Given the description of an element on the screen output the (x, y) to click on. 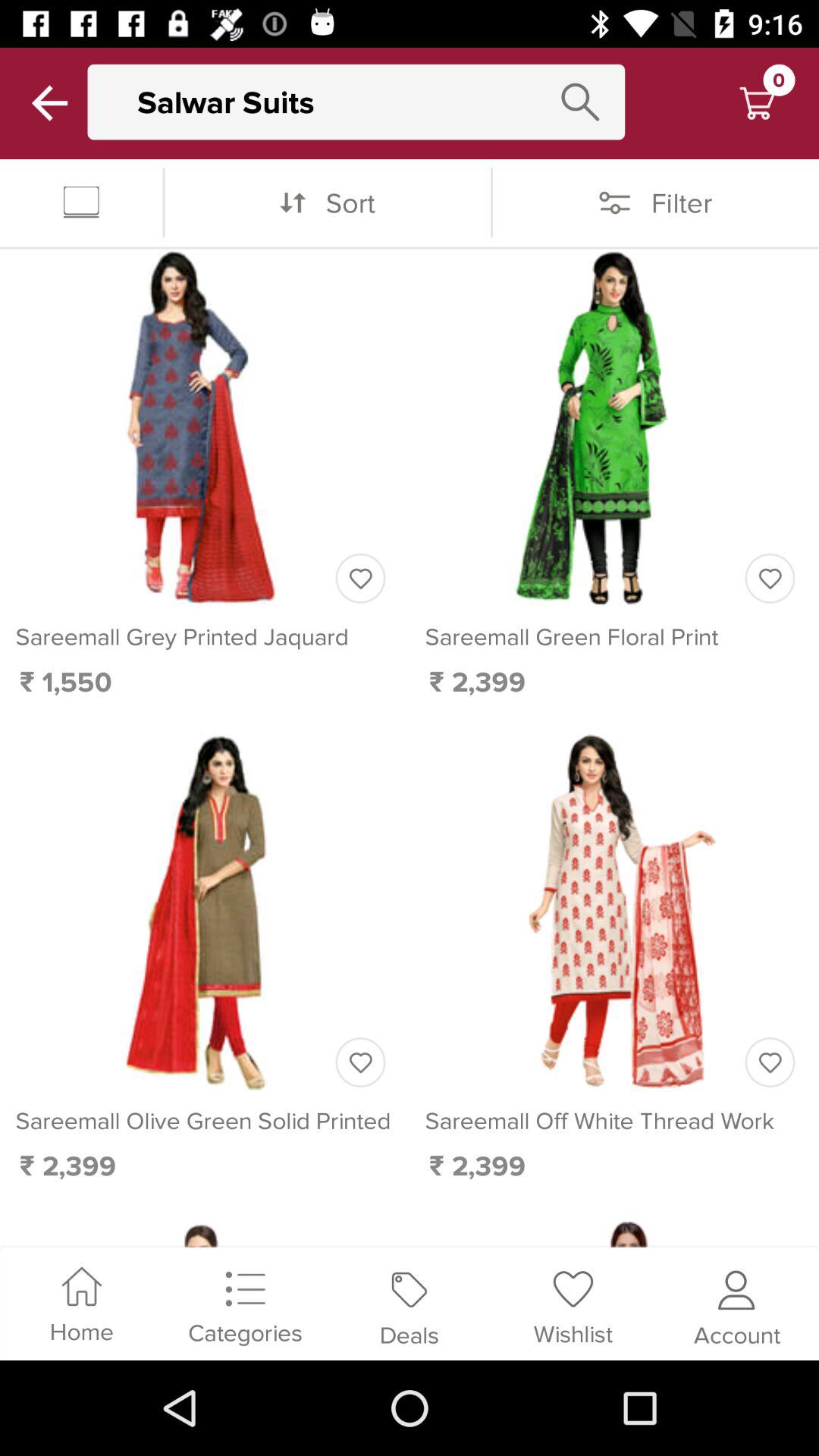
search (580, 101)
